Given the description of an element on the screen output the (x, y) to click on. 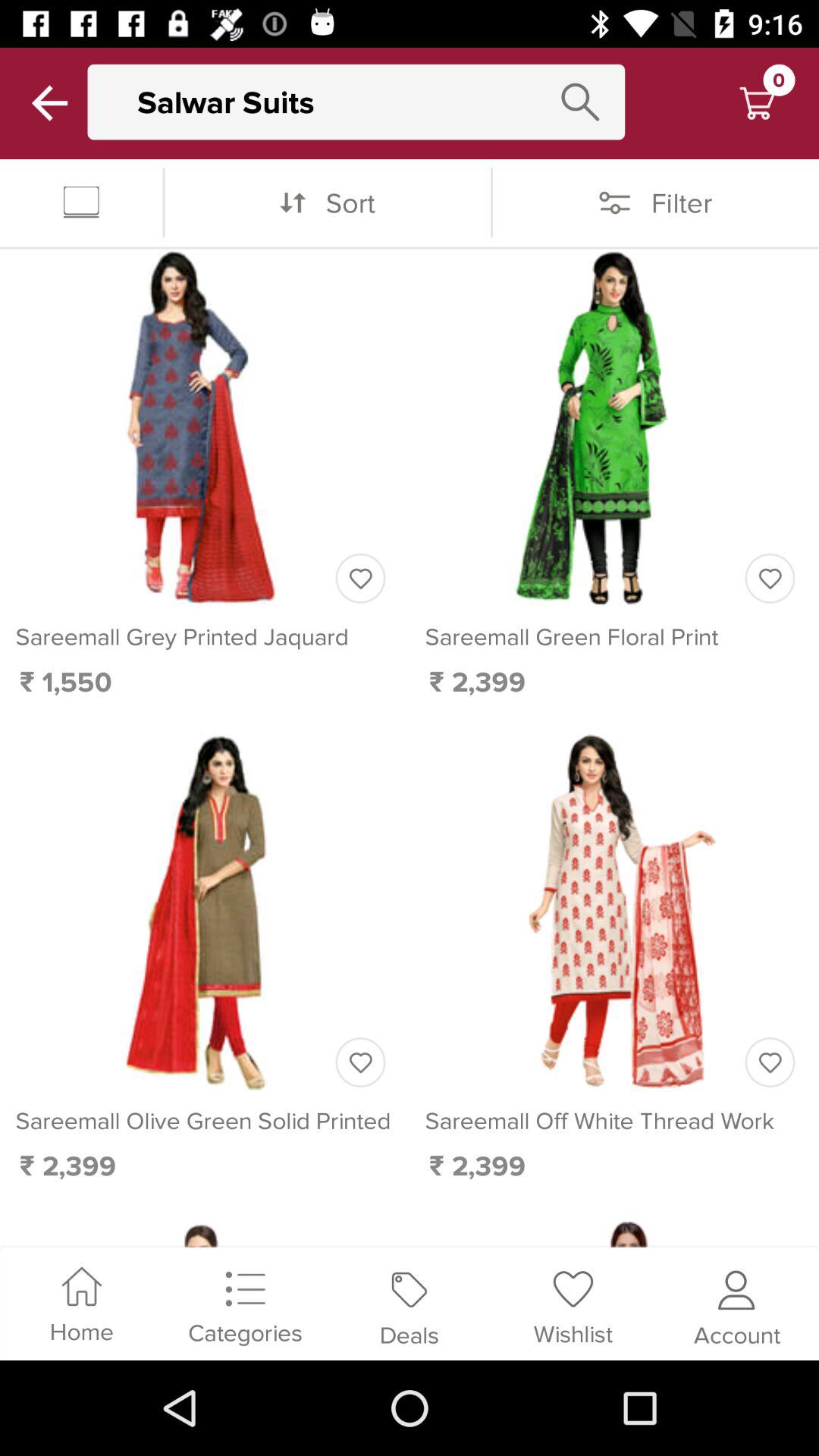
search (580, 101)
